Given the description of an element on the screen output the (x, y) to click on. 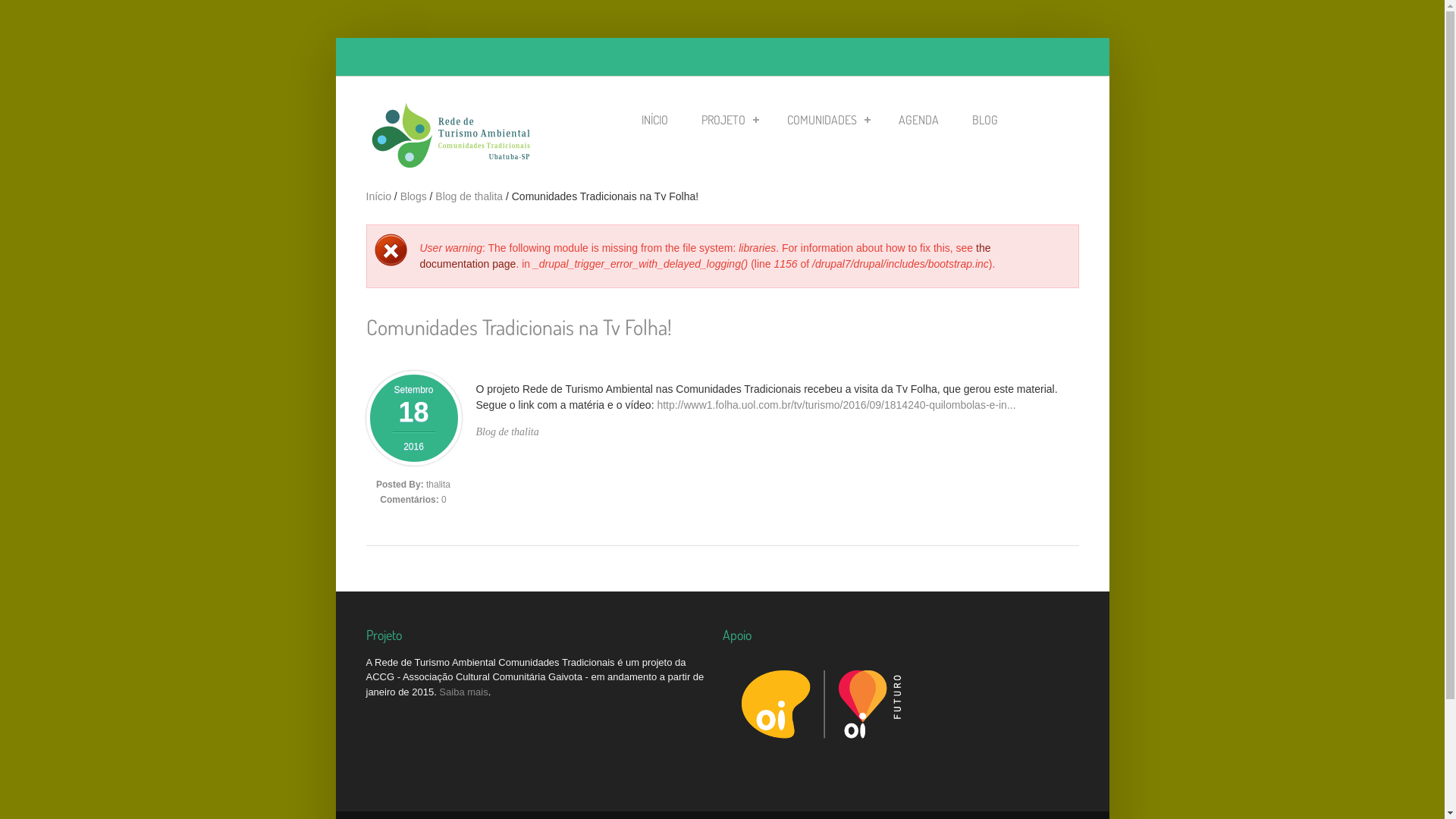
Blog de thalita Element type: text (507, 431)
BLOG Element type: text (985, 120)
Saiba mais Element type: text (463, 691)
COMUNIDADES Element type: text (826, 120)
PROJETO Element type: text (726, 120)
the documentation page Element type: text (705, 255)
AGENDA Element type: text (917, 120)
Blogs Element type: text (413, 196)
Blog de thalita Element type: text (468, 196)
